Given the description of an element on the screen output the (x, y) to click on. 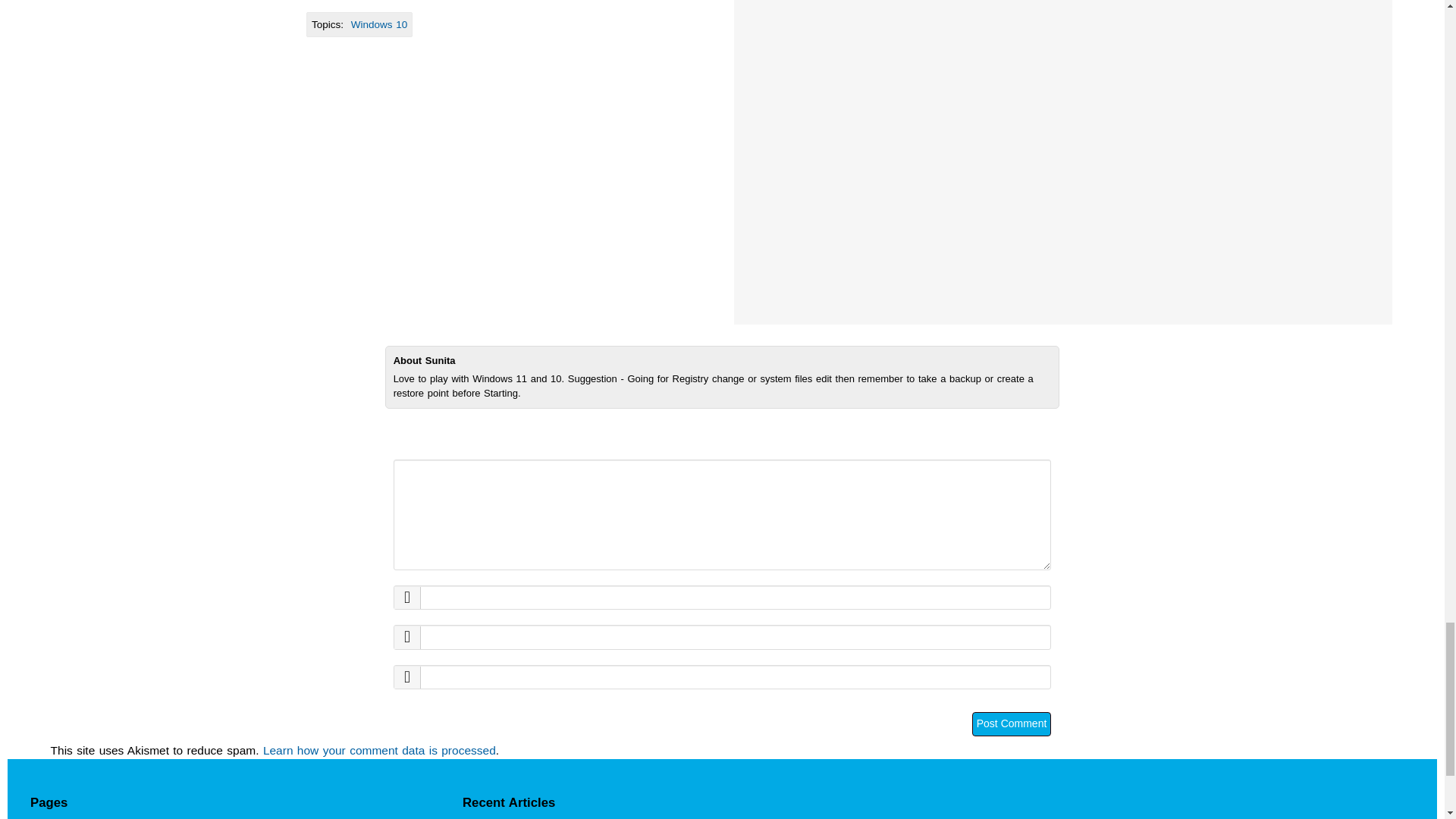
Post Comment (1011, 723)
Learn how your comment data is processed (379, 749)
Post Comment (1011, 723)
Windows 10 (378, 24)
